Given the description of an element on the screen output the (x, y) to click on. 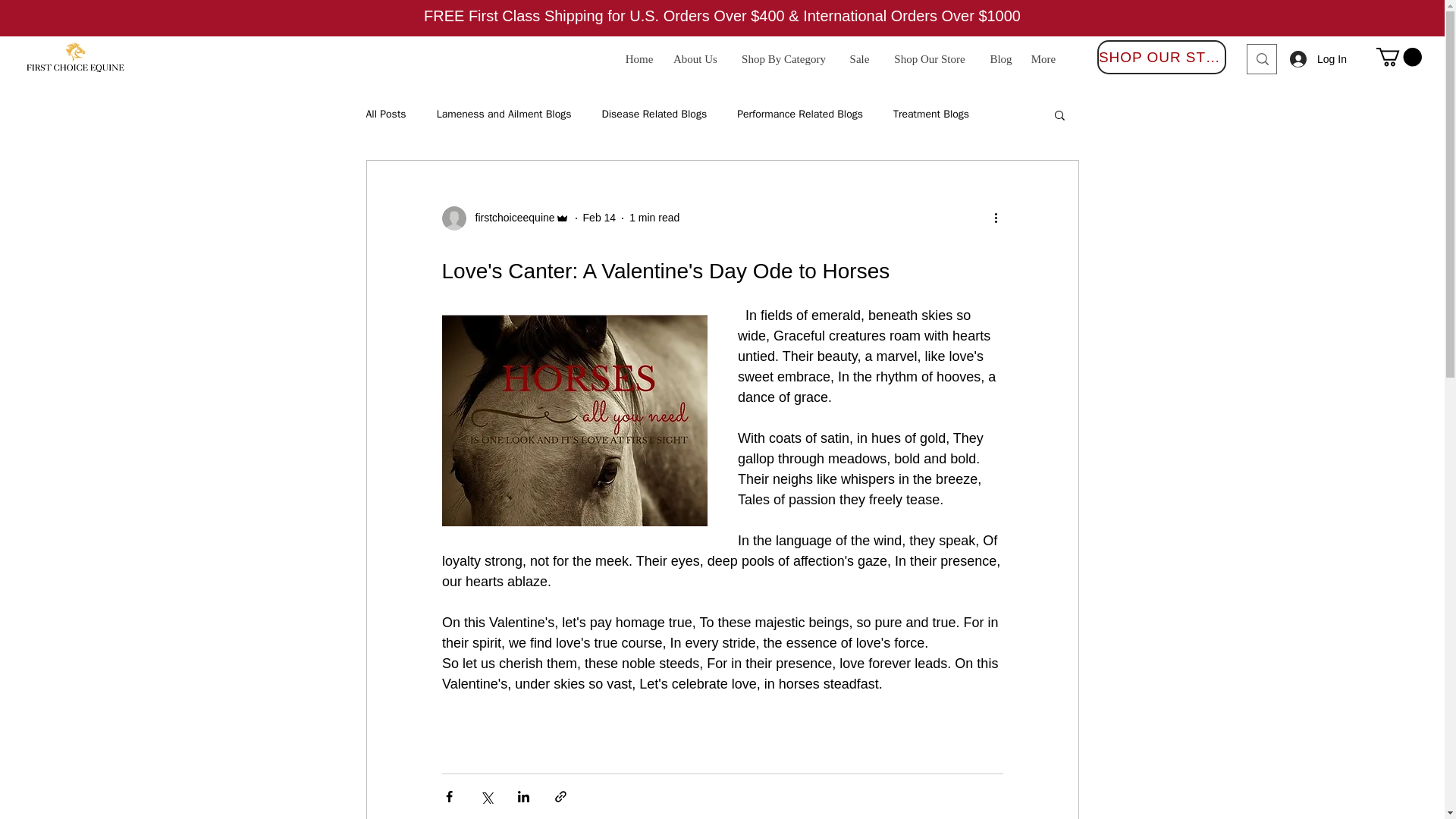
Log In (1315, 59)
Lameness and Ailment Blogs (504, 114)
Disease Related Blogs (653, 114)
All Posts (385, 114)
Performance Related Blogs (799, 114)
Sale (859, 58)
firstchoiceequine (509, 217)
Treatment Blogs (931, 114)
SHOP OUR STORE (1161, 57)
Home (638, 58)
Blog (1000, 58)
1 min read (653, 217)
About Us (694, 58)
firstchoiceequine (505, 218)
Shop Our Store (929, 58)
